Given the description of an element on the screen output the (x, y) to click on. 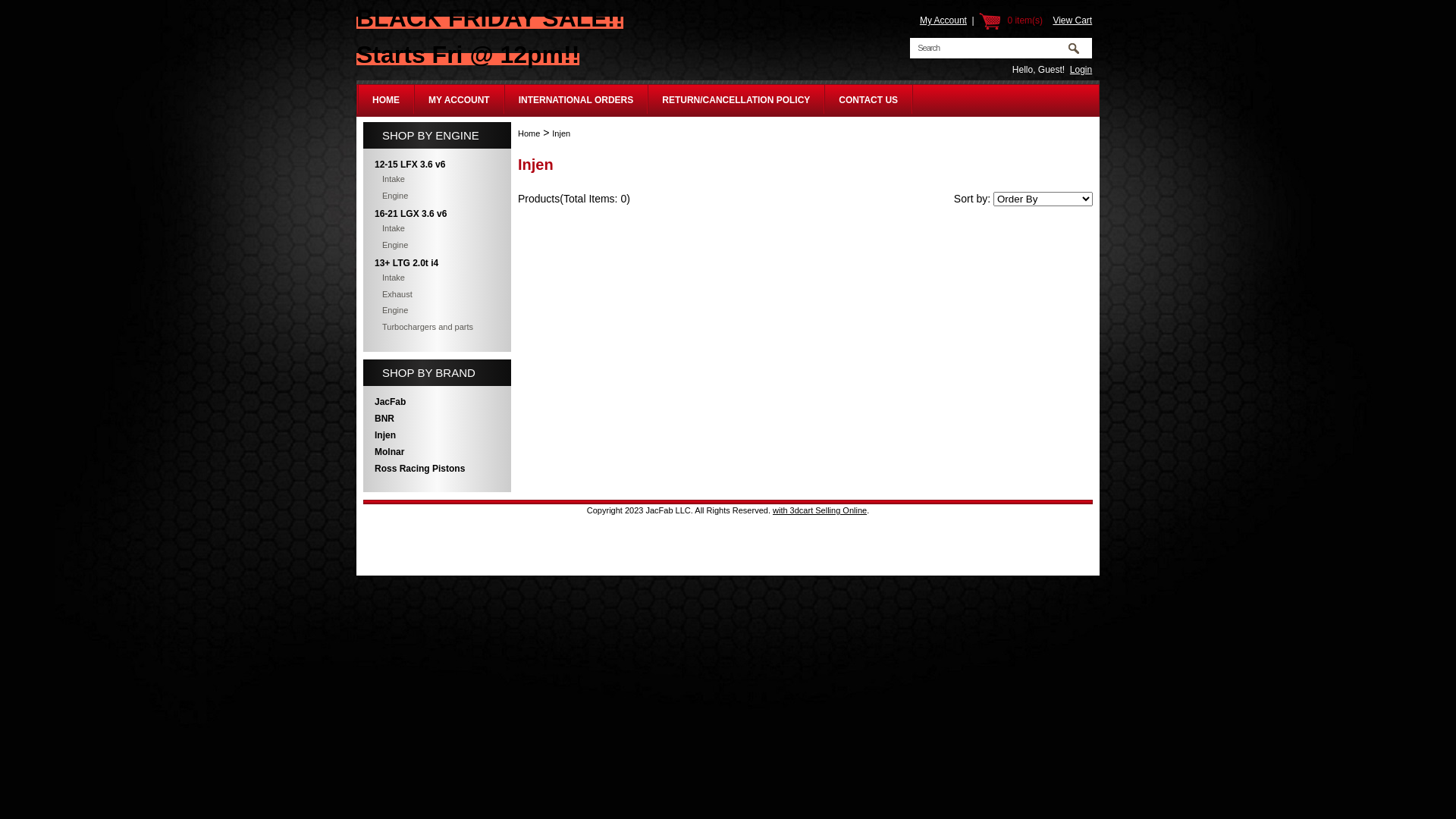
12-15 LFX 3.6 v6 Element type: text (437, 164)
Engine Element type: text (437, 195)
Exhaust Element type: text (437, 294)
Molnar Element type: text (437, 451)
Intake Element type: text (437, 178)
Injen Element type: text (437, 434)
BNR Element type: text (437, 418)
RETURN/CANCELLATION POLICY Element type: text (735, 99)
MY ACCOUNT Element type: text (458, 99)
Injen Element type: text (561, 133)
View Cart Element type: text (1072, 20)
Engine Element type: text (437, 244)
Engine Element type: text (437, 310)
Login Element type: text (1081, 69)
Ross Racing Pistons Element type: text (437, 468)
Turbochargers and parts Element type: text (437, 326)
HOME Element type: text (385, 99)
CONTACT US Element type: text (868, 99)
with 3dcart Selling Online Element type: text (819, 509)
Home Element type: text (528, 133)
Intake Element type: text (437, 228)
My Account Element type: text (942, 20)
Intake Element type: text (437, 277)
INTERNATIONAL ORDERS Element type: text (576, 99)
13+ LTG 2.0t i4 Element type: text (437, 262)
JacFab Element type: text (437, 401)
16-21 LGX 3.6 v6 Element type: text (437, 213)
